Given the description of an element on the screen output the (x, y) to click on. 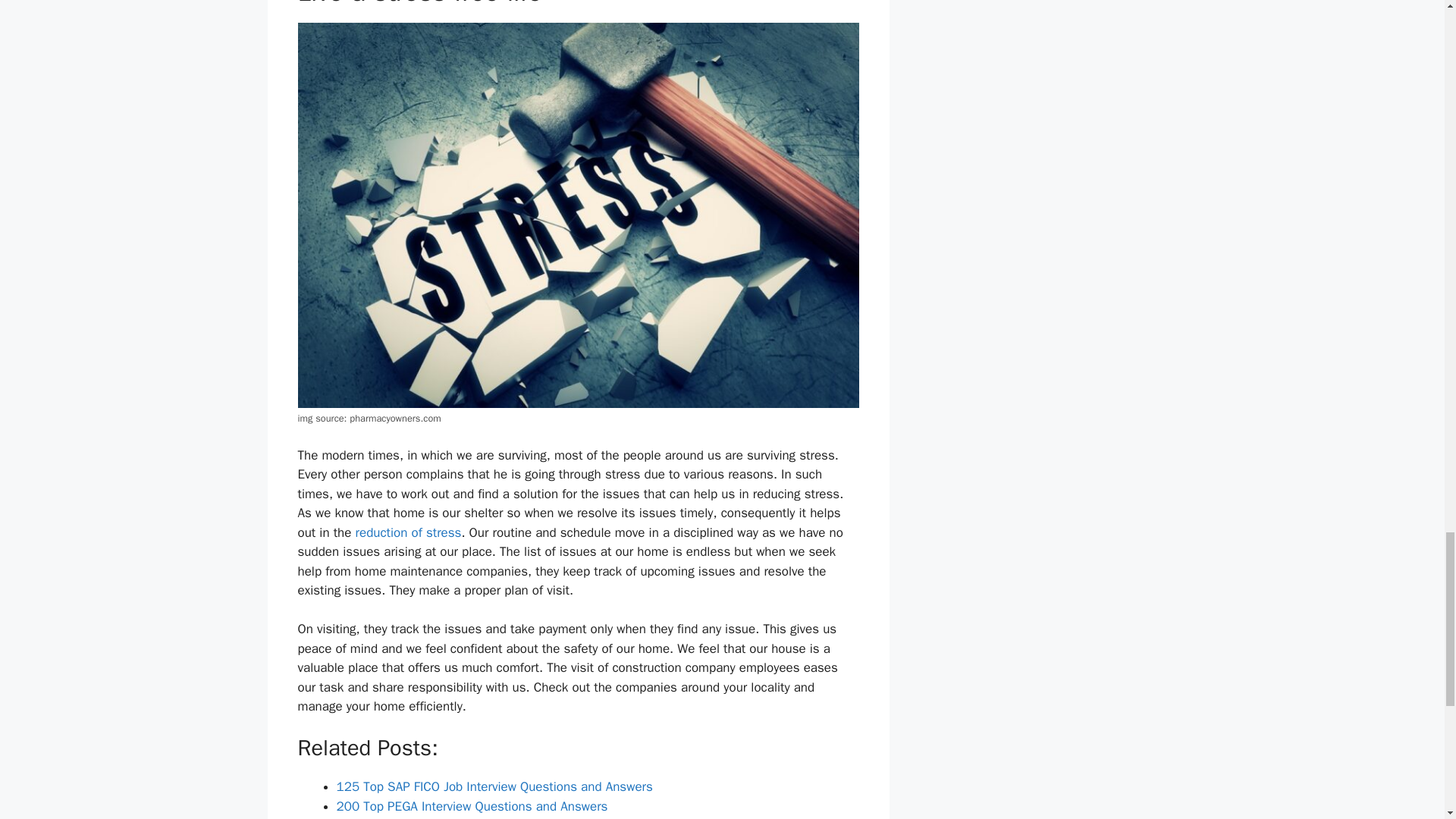
125 Top SAP FICO Job Interview Questions and Answers (494, 786)
200 Top PEGA Interview Questions and Answers (472, 806)
reduction of stress (408, 532)
